Given the description of an element on the screen output the (x, y) to click on. 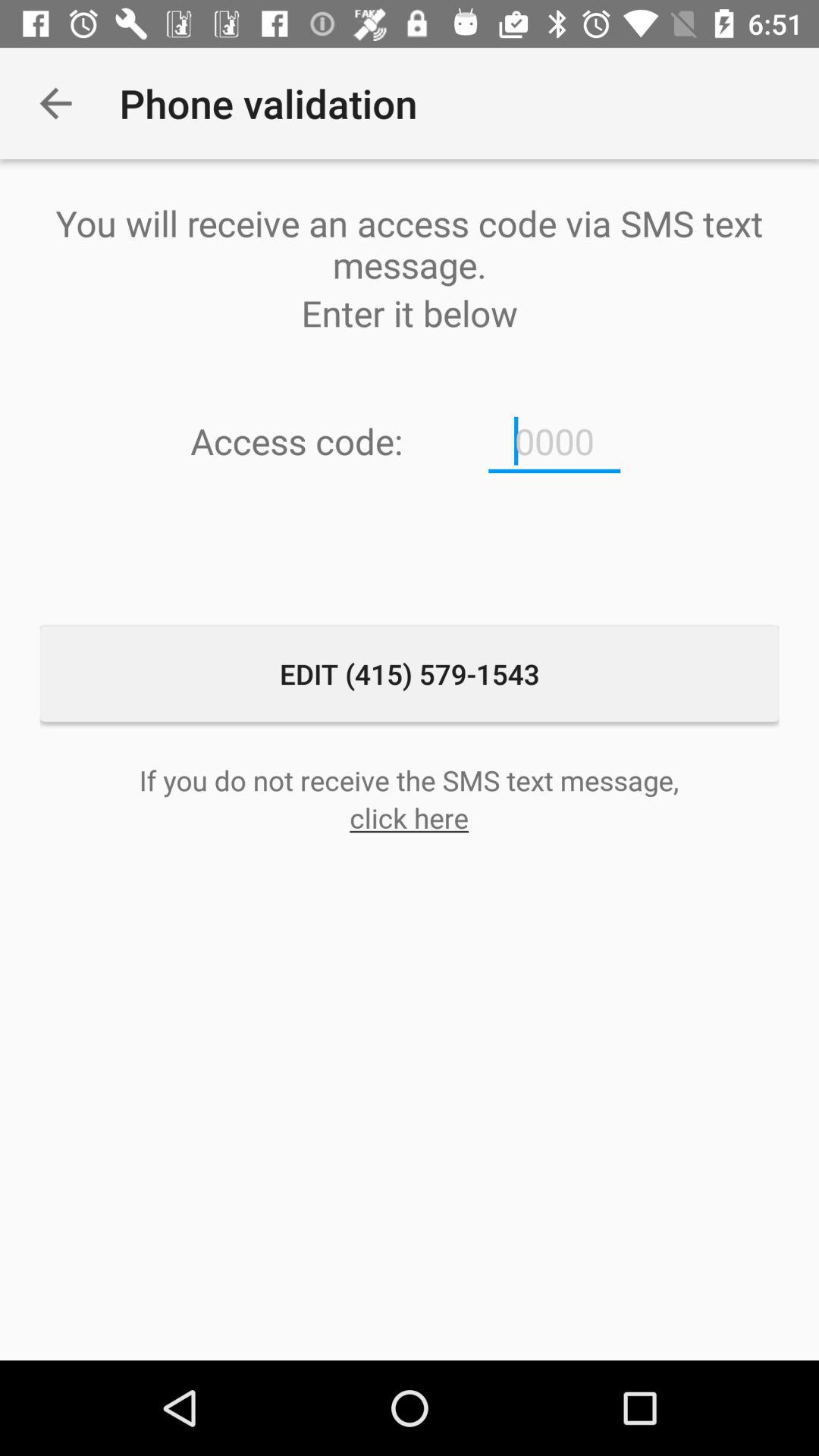
turn on the icon next to phone validation icon (55, 103)
